Given the description of an element on the screen output the (x, y) to click on. 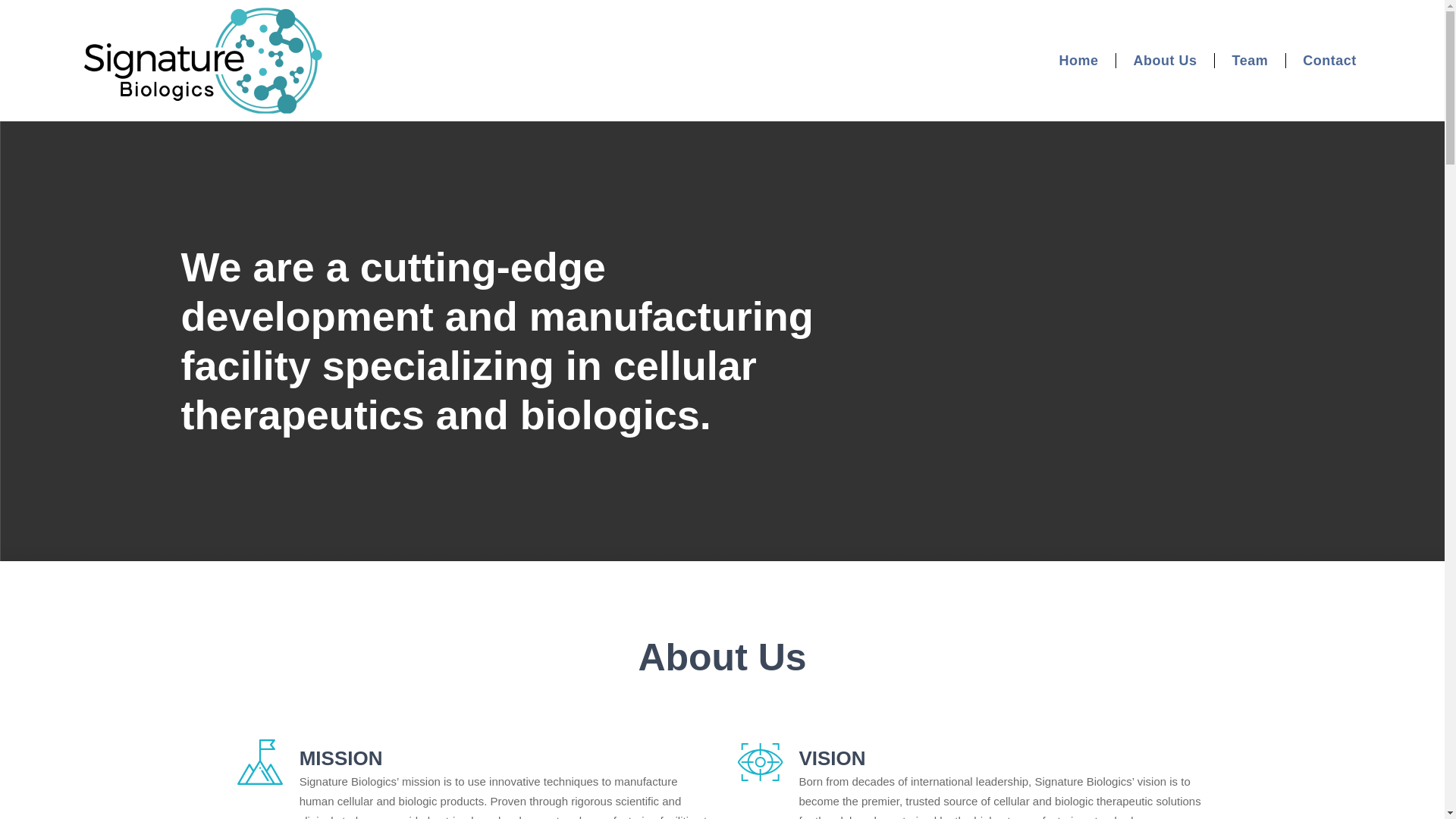
About Us (1165, 60)
Contact (1328, 60)
Home (1078, 60)
Team (1250, 60)
